Given the description of an element on the screen output the (x, y) to click on. 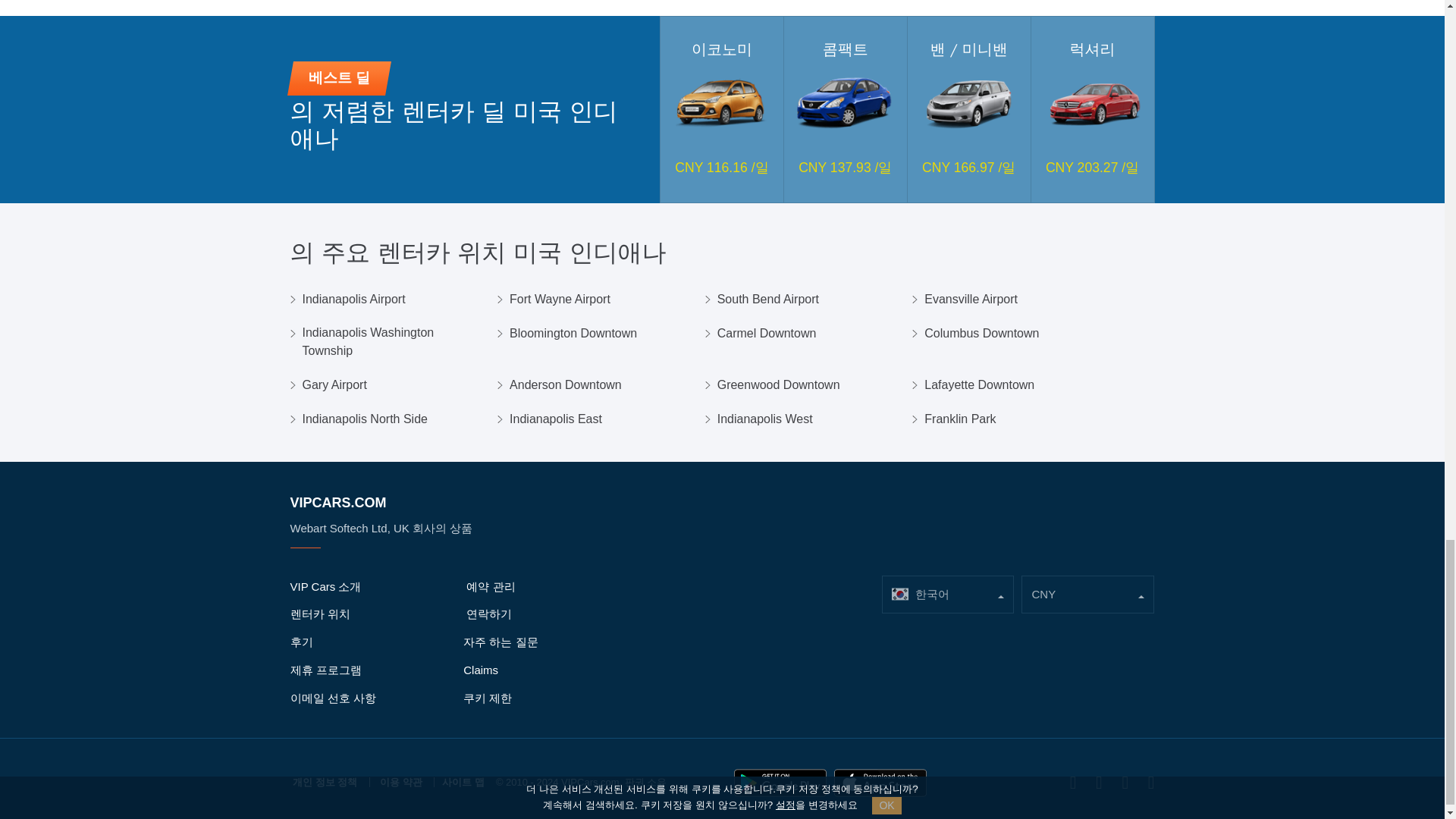
Indianapolis West (764, 419)
Franklin Park (959, 419)
Anderson Downtown (565, 384)
South Bend Airport (767, 299)
Fort Wayne Airport (559, 299)
Carmel Downtown (766, 333)
Columbus Downtown (981, 333)
Lafayette Downtown (978, 384)
Greenwood Downtown (778, 384)
Bloomington Downtown (573, 333)
Indianapolis Airport (352, 299)
Evansville Airport (970, 299)
Indianapolis East (555, 419)
Indianapolis Washington Township (392, 341)
Indianapolis Airport (352, 299)
